Given the description of an element on the screen output the (x, y) to click on. 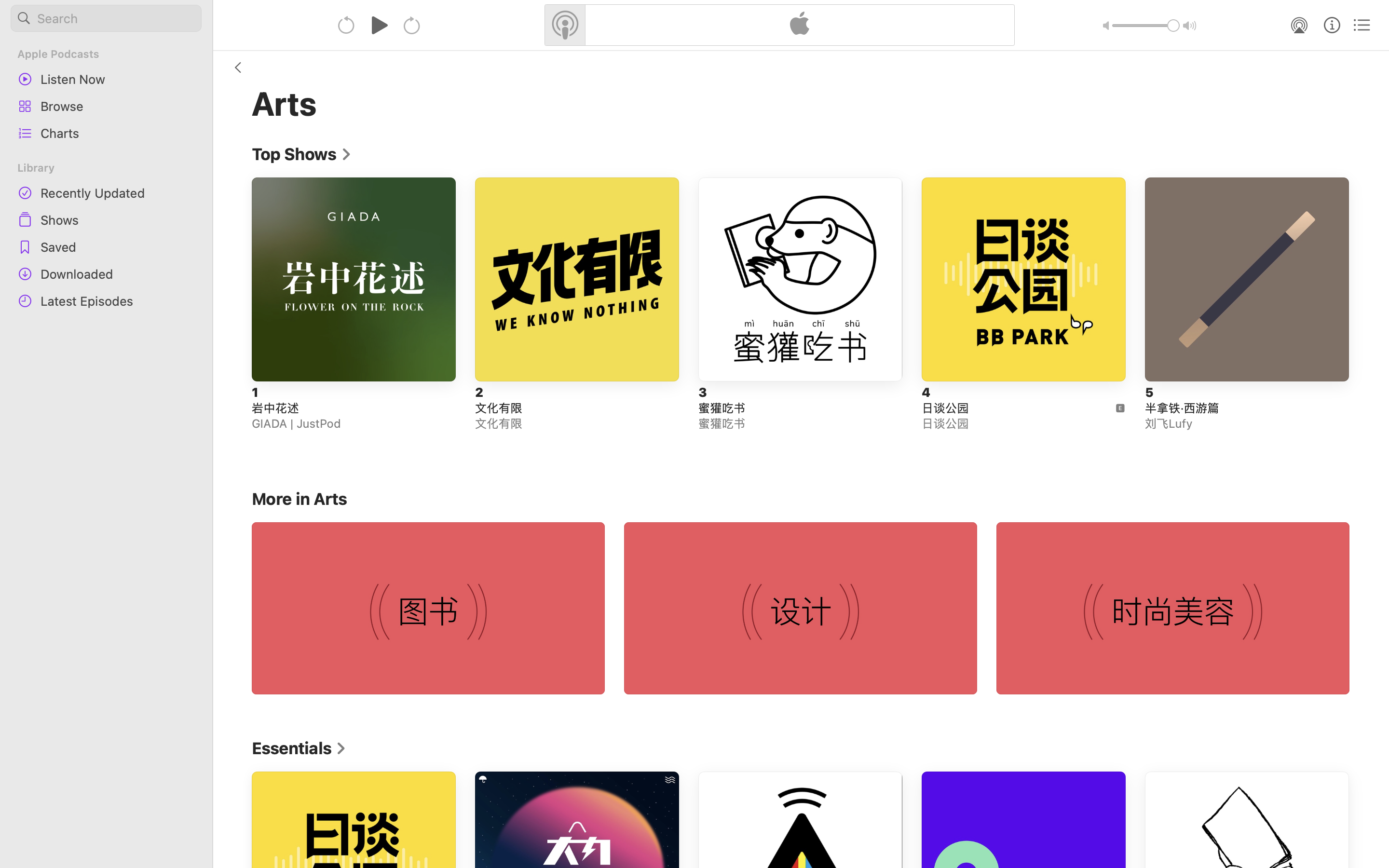
1.0 Element type: AXSlider (1145, 25)
